Given the description of an element on the screen output the (x, y) to click on. 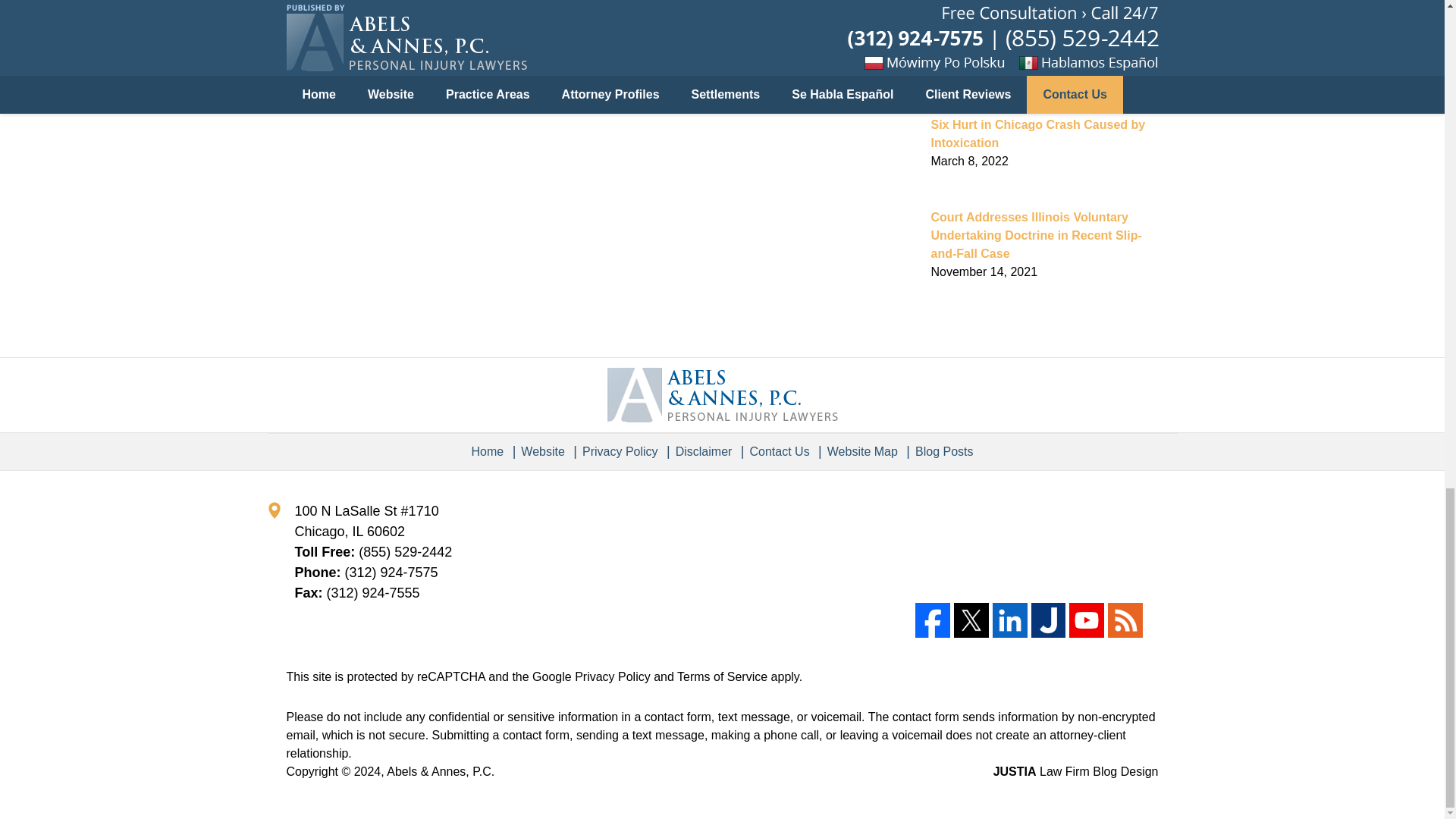
Feed (1125, 620)
Facebook (932, 620)
LinkedIn (1009, 620)
Justia (1047, 620)
YouTube (1085, 620)
Twitter (970, 620)
